Given the description of an element on the screen output the (x, y) to click on. 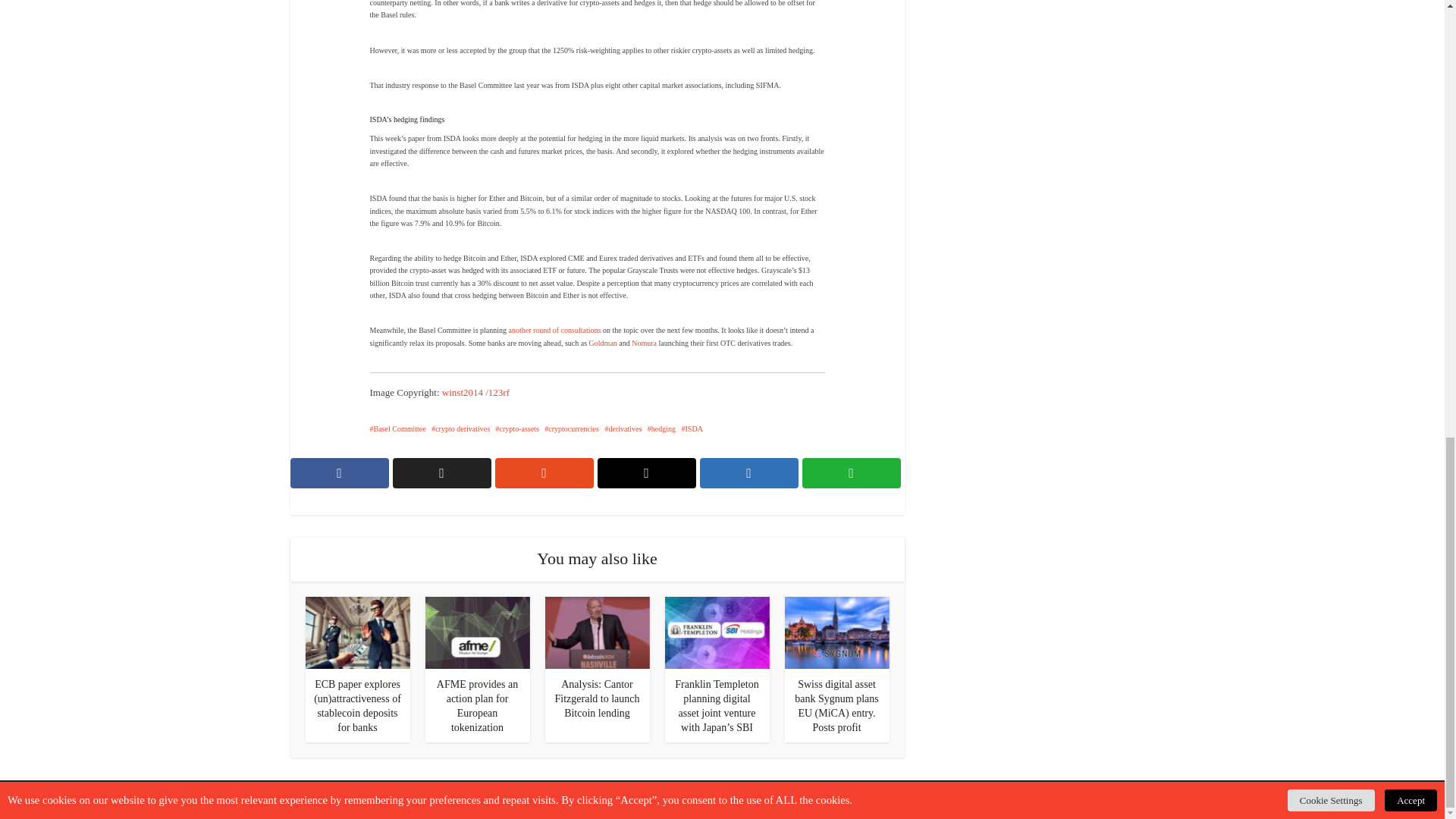
Analysis: Cantor Fitzgerald to launch Bitcoin lending (597, 698)
AFME provides an action plan for European tokenization (477, 632)
AFME provides an action plan for European tokenization (477, 705)
Analysis: Cantor Fitzgerald to launch Bitcoin lending (596, 632)
